Given the description of an element on the screen output the (x, y) to click on. 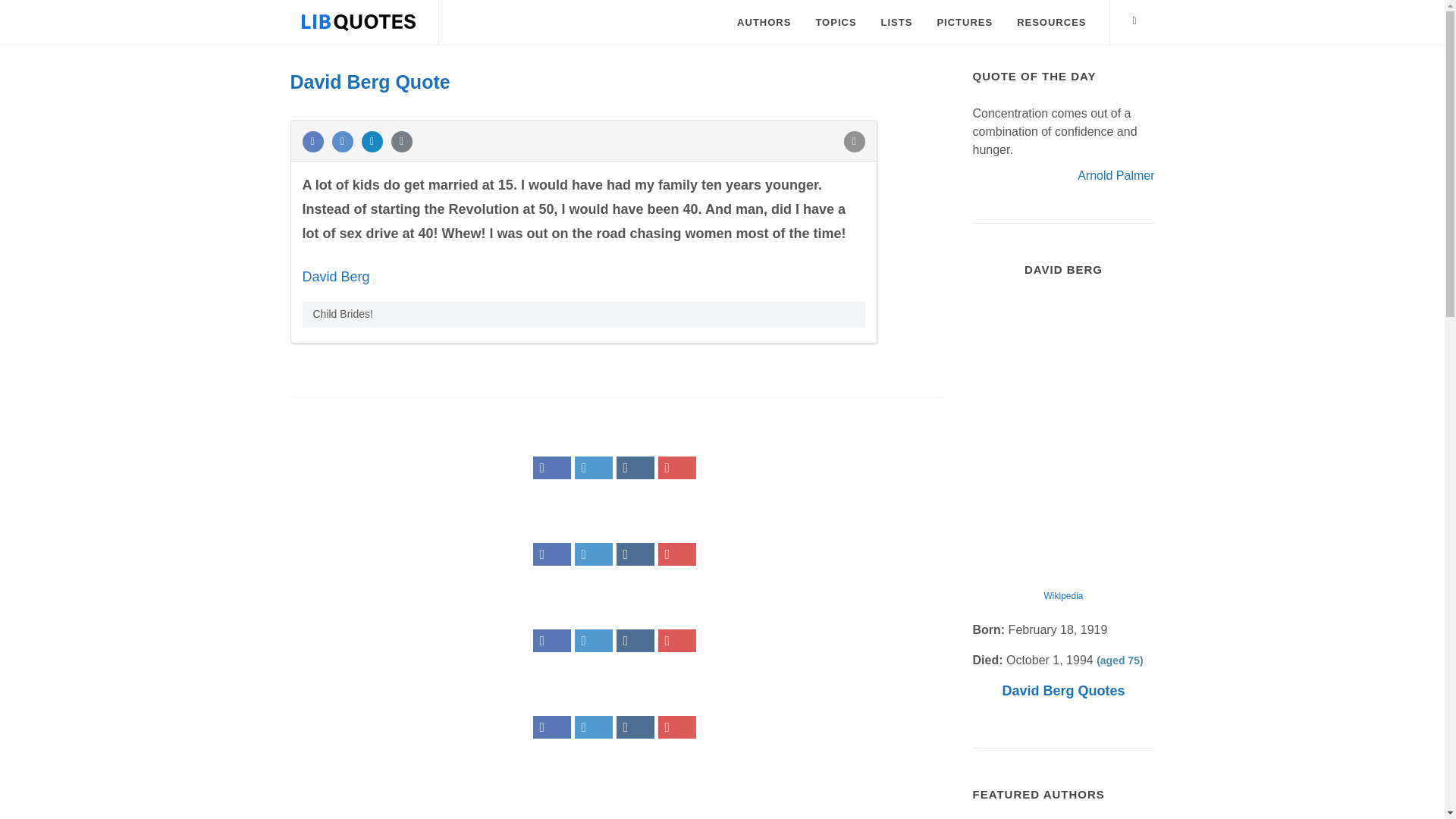
Wikipedia (1063, 595)
LISTS (896, 22)
Arnold Palmer (1115, 174)
TOPICS (835, 22)
AUTHORS (763, 22)
PICTURES (964, 22)
David Berg Quotes (1062, 690)
RESOURCES (1051, 22)
David Berg (335, 276)
